Given the description of an element on the screen output the (x, y) to click on. 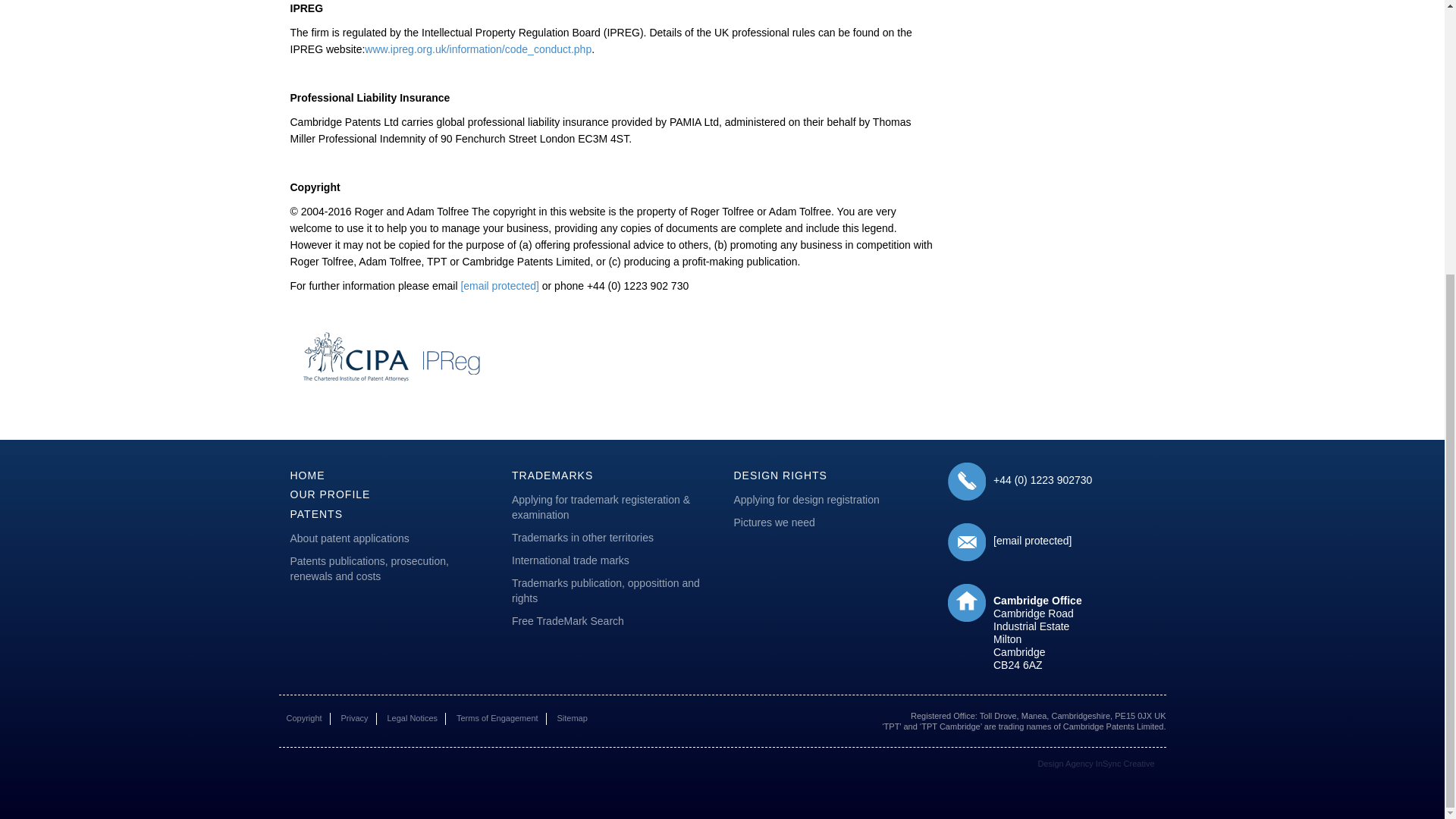
HOME (306, 475)
Home (306, 475)
Privacy (354, 718)
Patents publications, prosecution, renewals and costs (389, 569)
Legal Notices (411, 718)
International trade marks (611, 560)
Pictures we need (833, 522)
Applying for design registration (833, 499)
Terms of Engagement (497, 718)
Trademarks in other territories (611, 538)
